Given the description of an element on the screen output the (x, y) to click on. 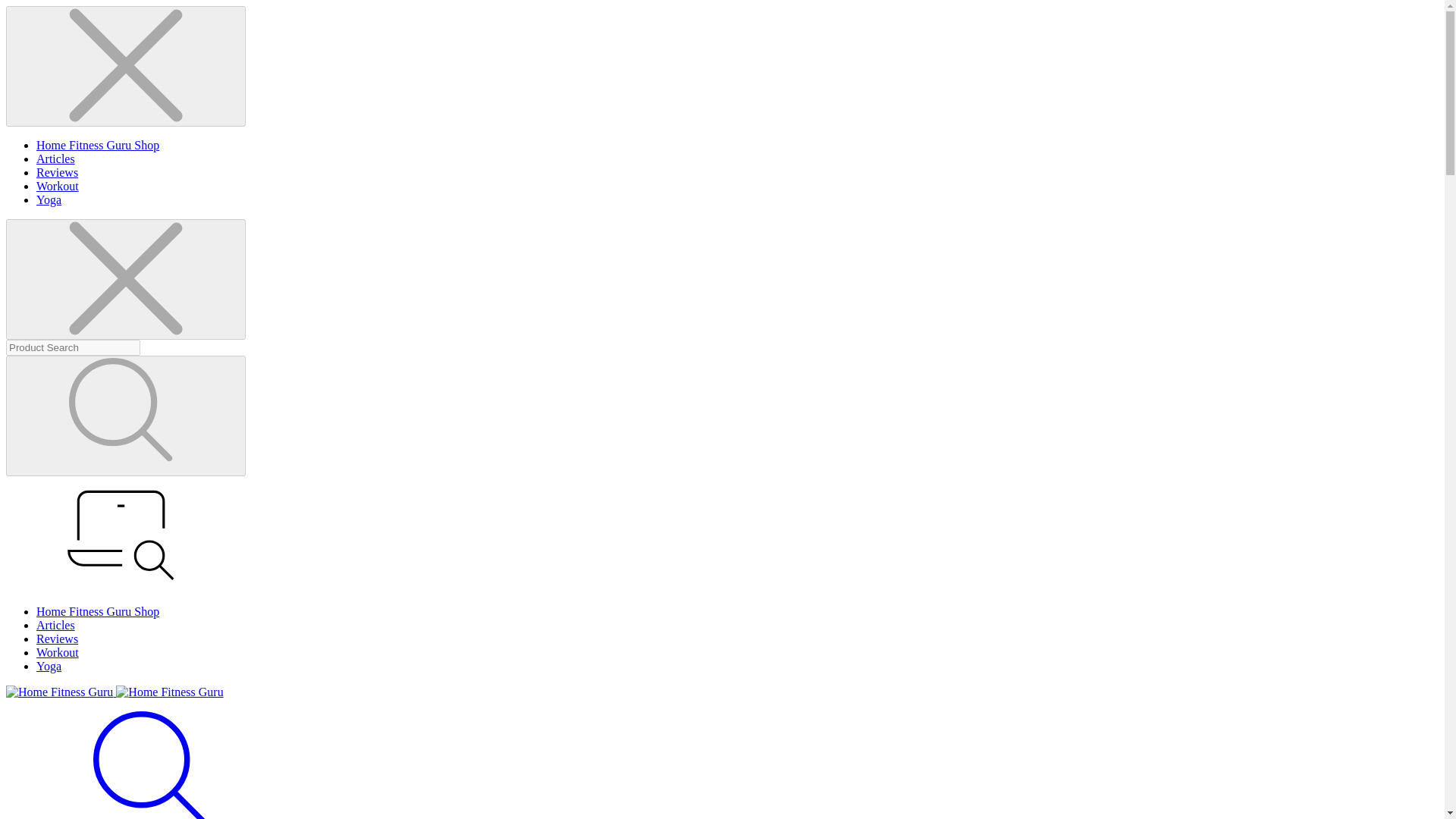
Yoga (48, 666)
Yoga (48, 199)
Articles (55, 158)
Home Fitness Guru Shop (97, 611)
Home Fitness Guru (169, 692)
Reviews (57, 172)
Reviews (57, 638)
Home Fitness Guru Shop (97, 144)
Workout (57, 652)
Workout (57, 185)
Articles (55, 625)
Home Fitness Guru (59, 692)
